Given the description of an element on the screen output the (x, y) to click on. 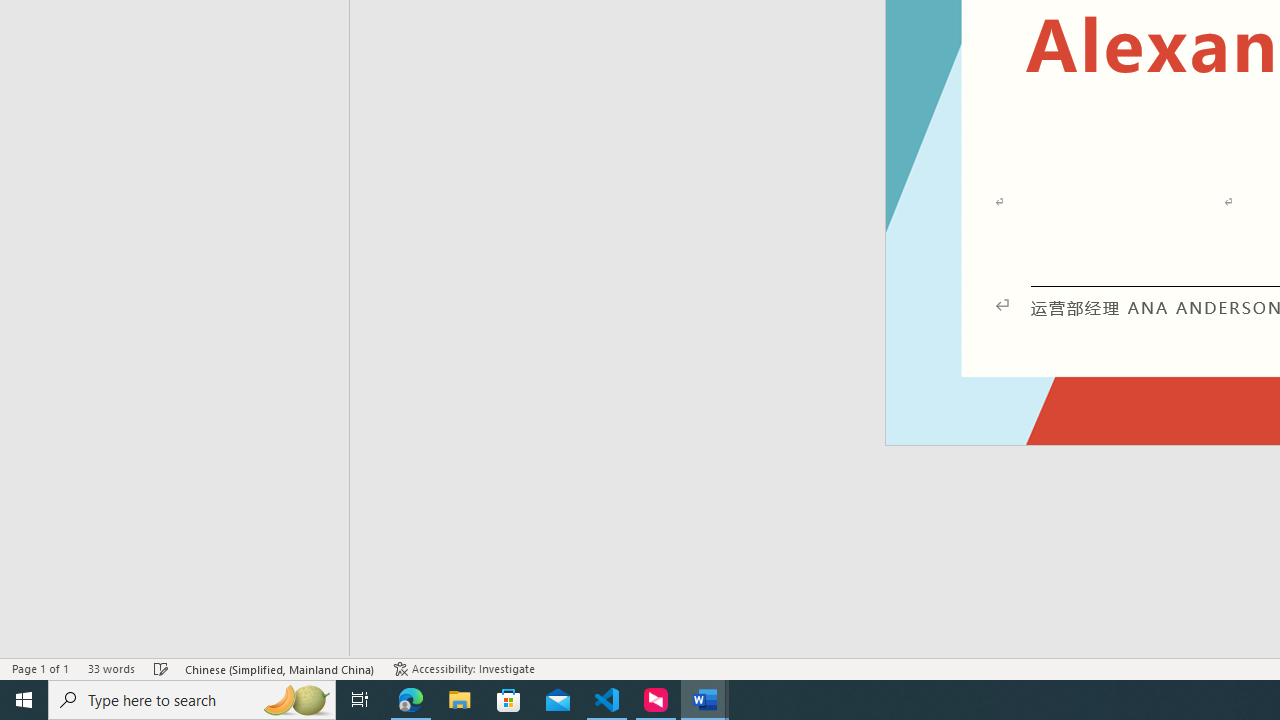
Page Number Page 1 of 1 (39, 668)
